Given the description of an element on the screen output the (x, y) to click on. 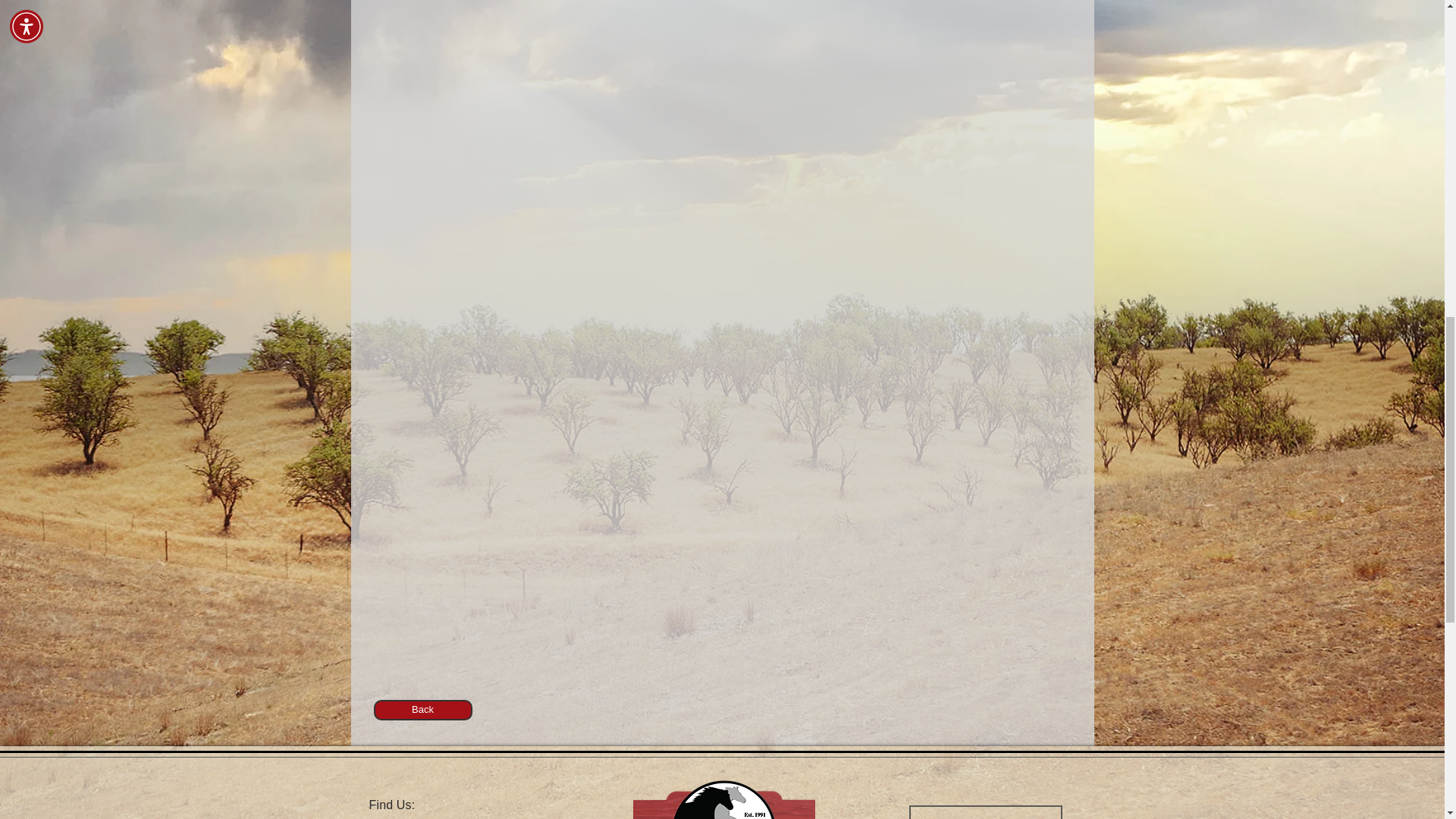
Back (421, 710)
Donate Now (984, 812)
